Given the description of an element on the screen output the (x, y) to click on. 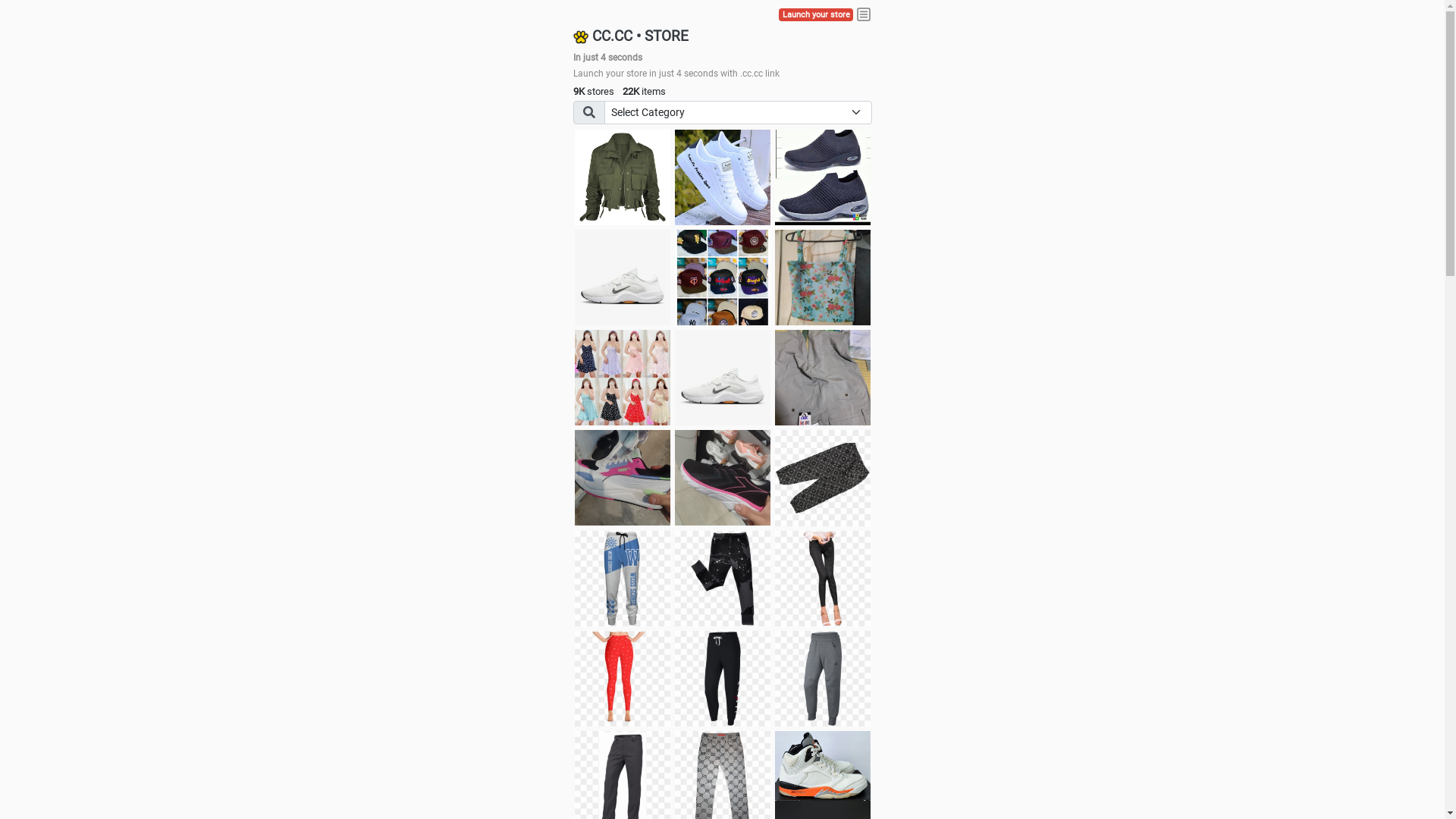
Zapatillas Element type: hover (722, 477)
Pant Element type: hover (622, 578)
Pant Element type: hover (722, 578)
Launch your store Element type: text (815, 14)
Pant Element type: hover (822, 578)
Ukay cloth Element type: hover (822, 277)
jacket Element type: hover (622, 177)
Pant Element type: hover (822, 678)
white shoes Element type: hover (722, 177)
Dress/square nect top Element type: hover (622, 377)
Short pant Element type: hover (822, 477)
Pant Element type: hover (622, 678)
Zapatillas pumas Element type: hover (622, 477)
shoes for boys Element type: hover (822, 177)
Shoes Element type: hover (722, 377)
Things we need Element type: hover (722, 277)
Shoes for boys Element type: hover (622, 277)
Pant Element type: hover (722, 678)
